Given the description of an element on the screen output the (x, y) to click on. 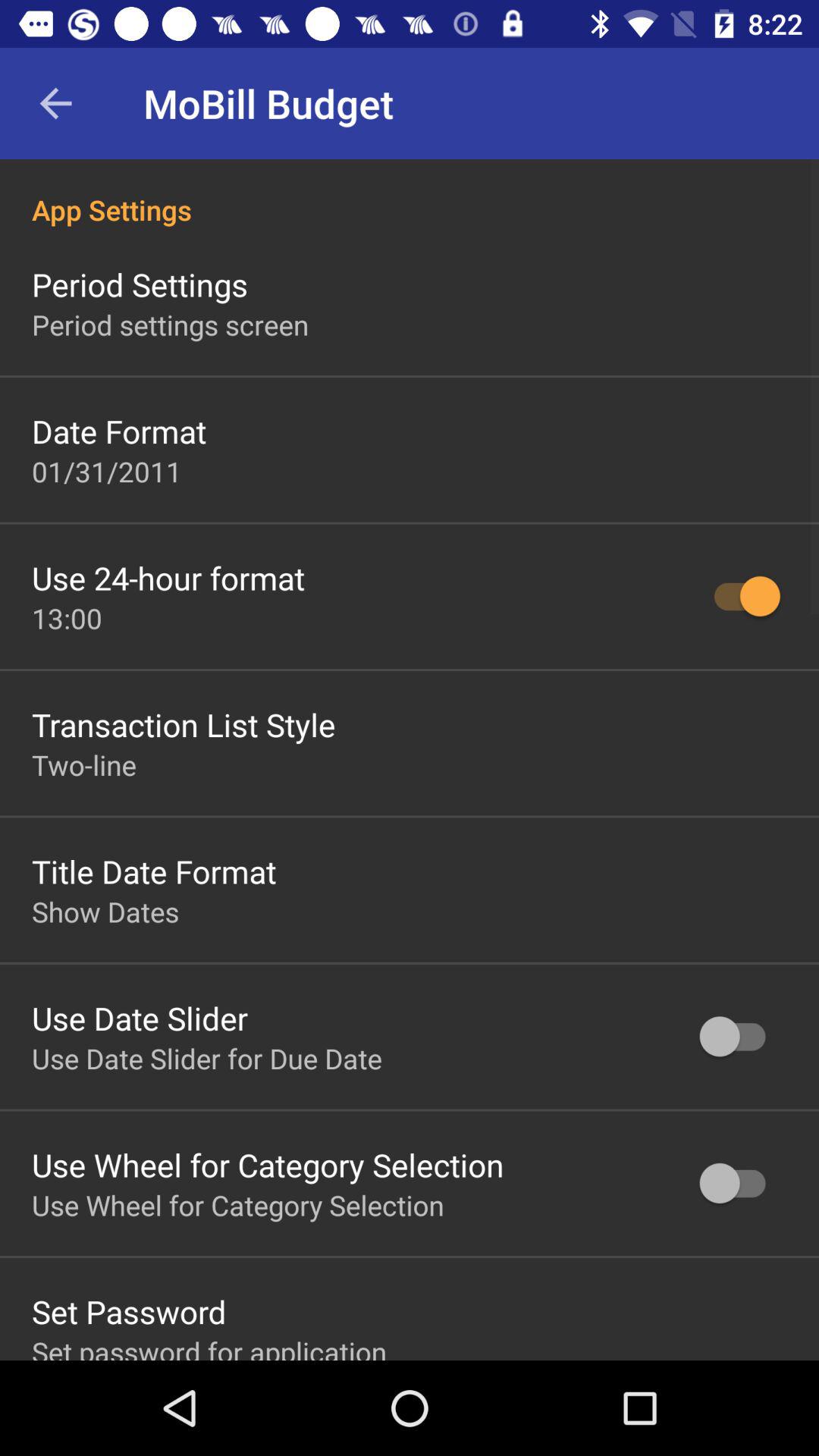
jump to the two-line app (83, 764)
